Given the description of an element on the screen output the (x, y) to click on. 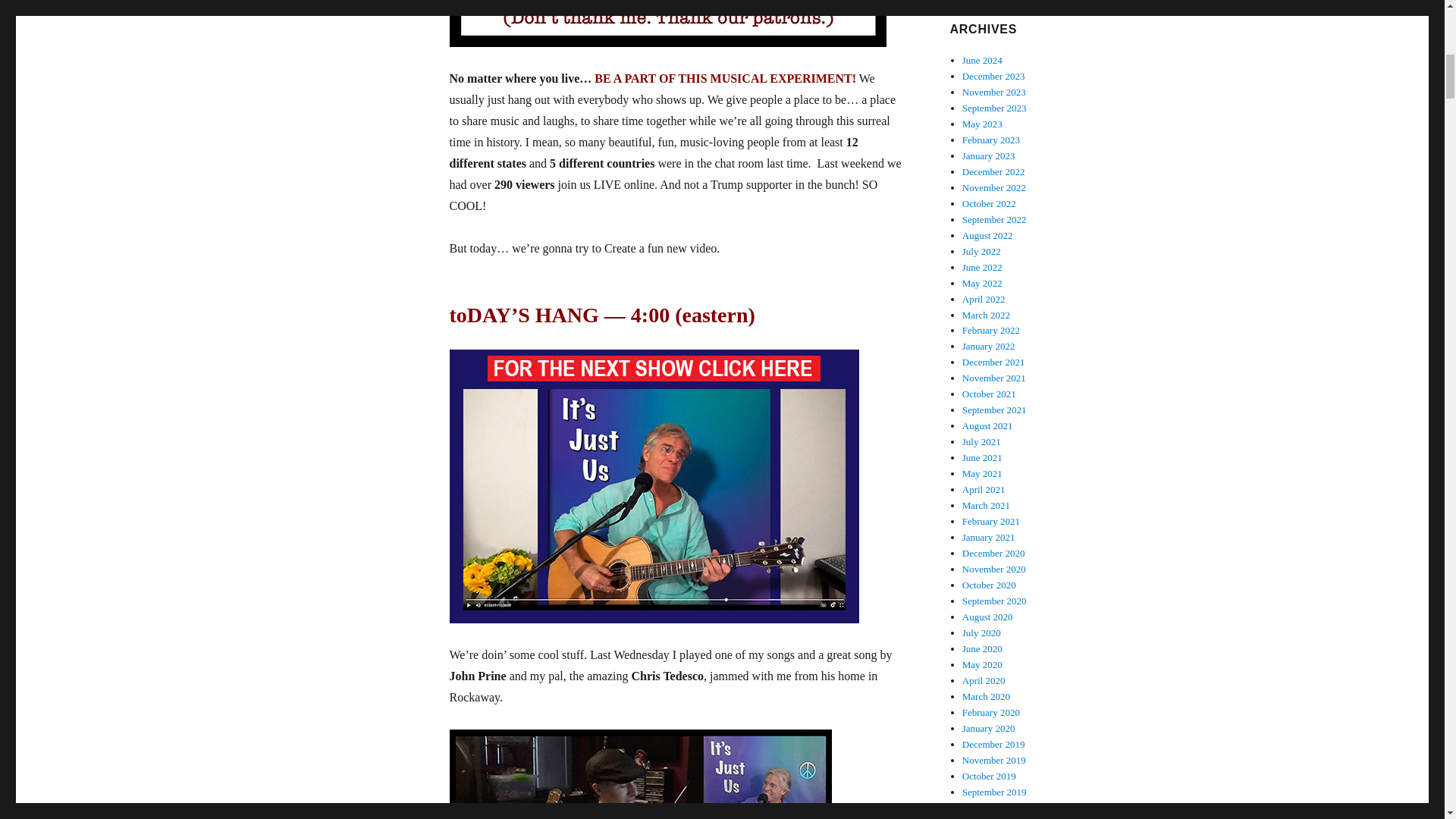
February 2022 (991, 329)
September 2023 (994, 107)
June 2024 (982, 60)
July 2022 (981, 251)
February 2023 (991, 139)
September 2022 (994, 219)
March 2022 (986, 315)
December 2023 (993, 75)
November 2022 (994, 187)
December 2022 (993, 171)
